Given the description of an element on the screen output the (x, y) to click on. 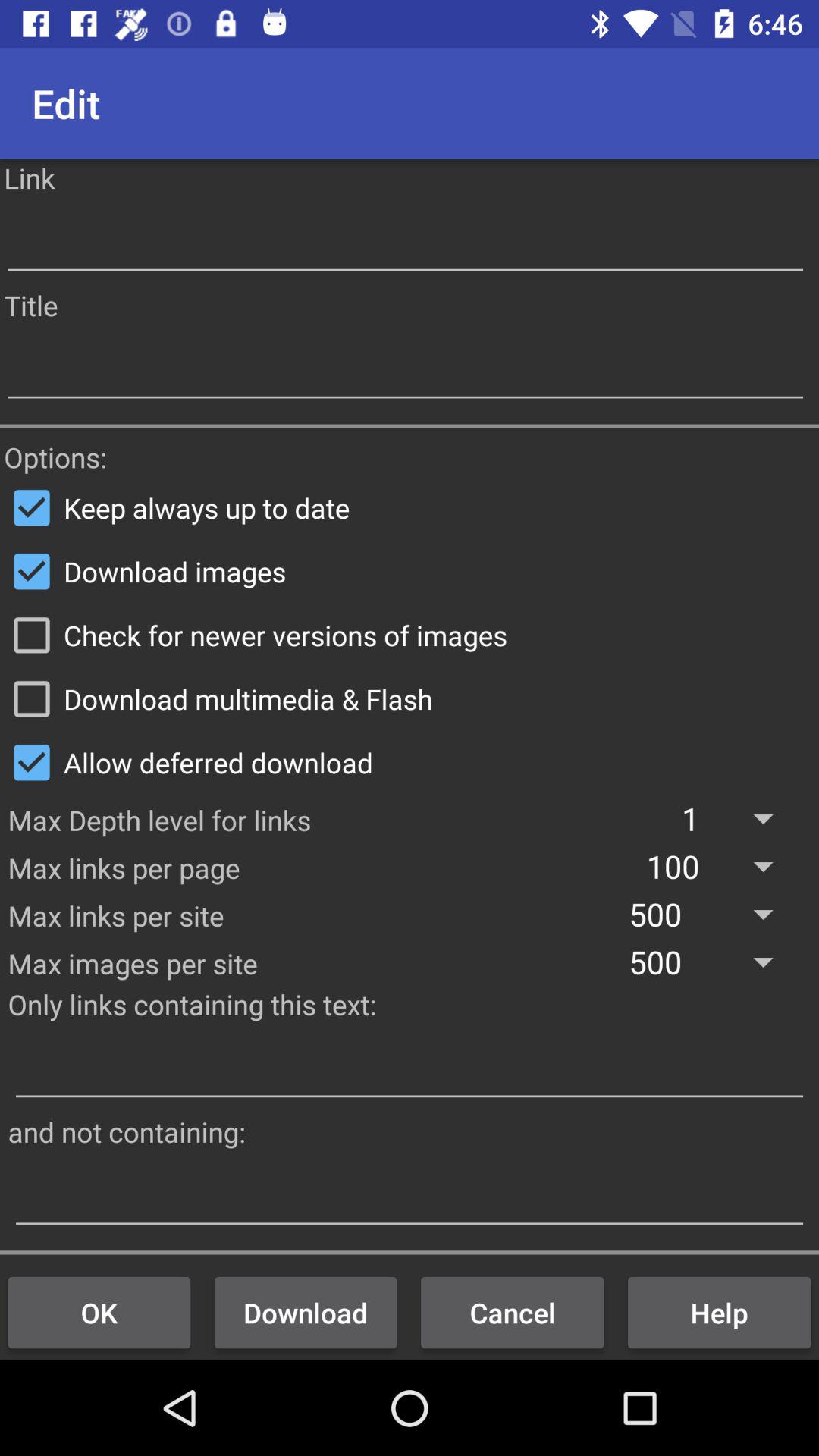
swipe to download multimedia & flash item (409, 698)
